Given the description of an element on the screen output the (x, y) to click on. 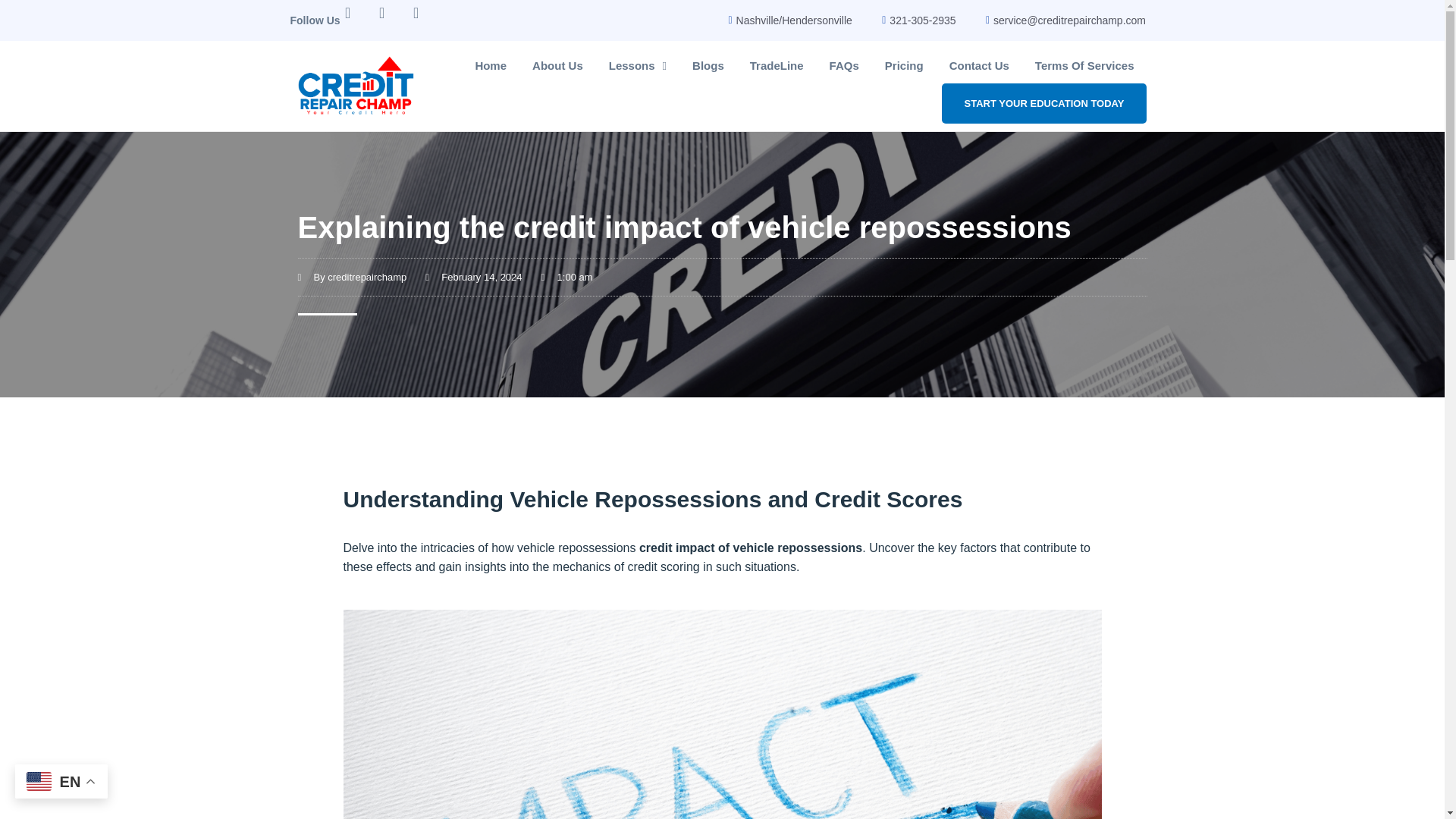
Lessons (637, 65)
FAQs (844, 65)
TradeLine (776, 65)
Terms Of Services (1084, 65)
START YOUR EDUCATION TODAY (1044, 103)
Blogs (707, 65)
Pricing (904, 65)
Contact Us (979, 65)
Home (490, 65)
About Us (557, 65)
